Given the description of an element on the screen output the (x, y) to click on. 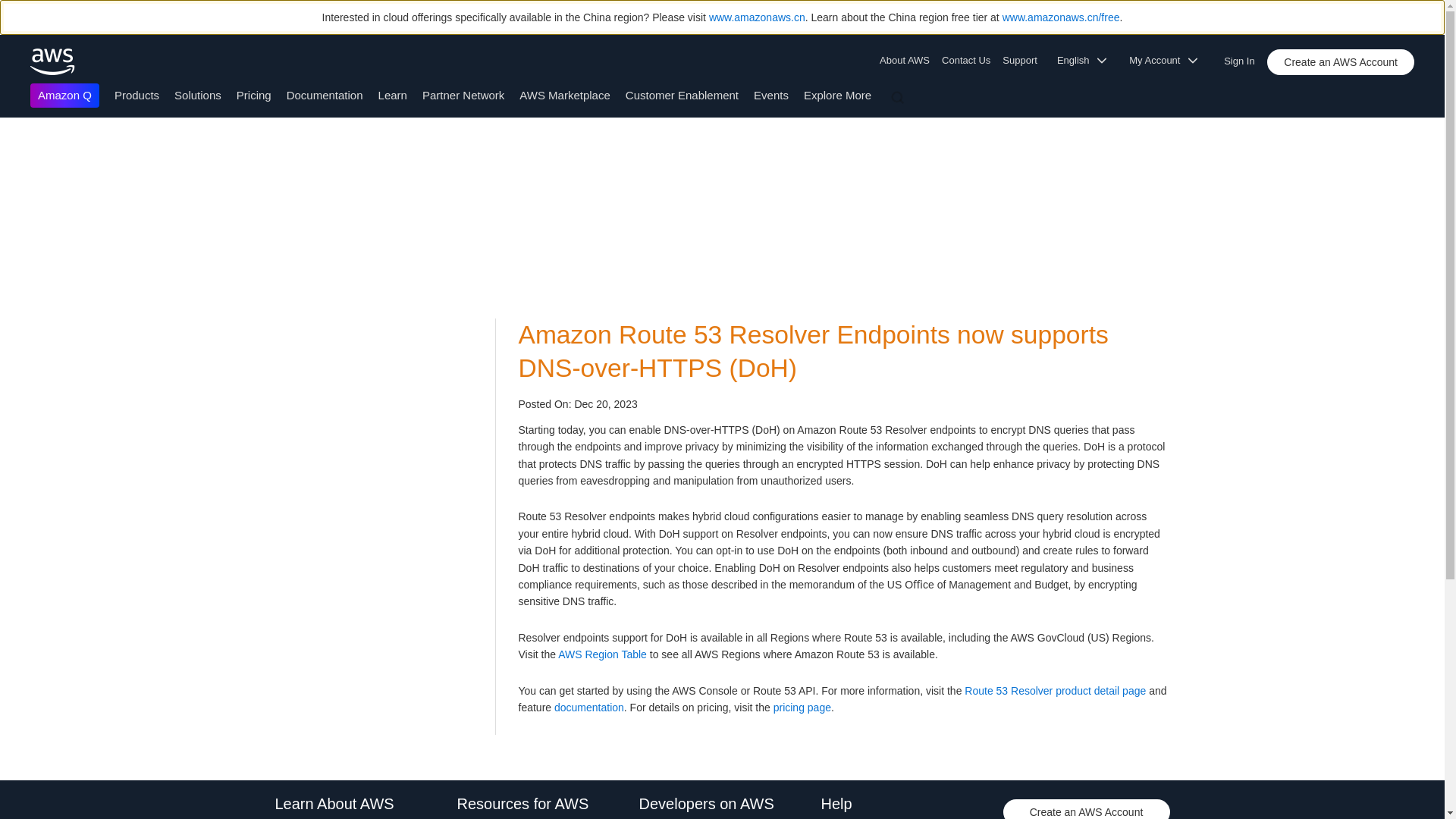
Support (1023, 60)
About AWS (907, 60)
Customer Enablement (682, 94)
Skip to main content (7, 146)
Pricing (252, 94)
Products (136, 94)
English   (1086, 60)
Partner Network (462, 94)
Click here to return to Amazon Web Services homepage (52, 61)
My Account   (1168, 60)
Amazon Q (64, 95)
Contact Us (965, 60)
Solutions (197, 94)
Events (771, 94)
Documentation (324, 94)
